Given the description of an element on the screen output the (x, y) to click on. 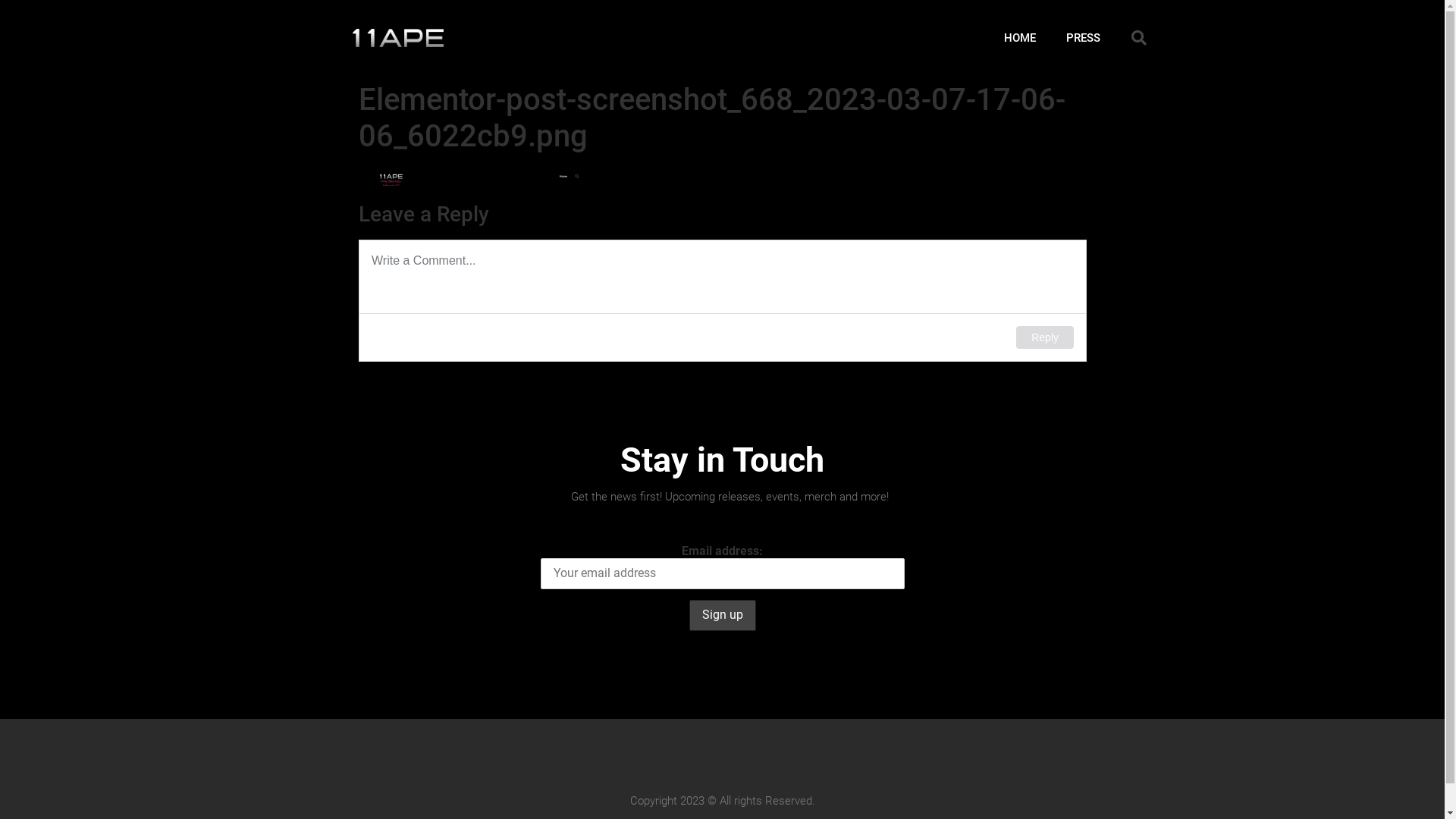
Sign up Element type: text (721, 614)
Comment Form Element type: hover (721, 300)
HOME Element type: text (1019, 37)
PRESS Element type: text (1083, 37)
